Given the description of an element on the screen output the (x, y) to click on. 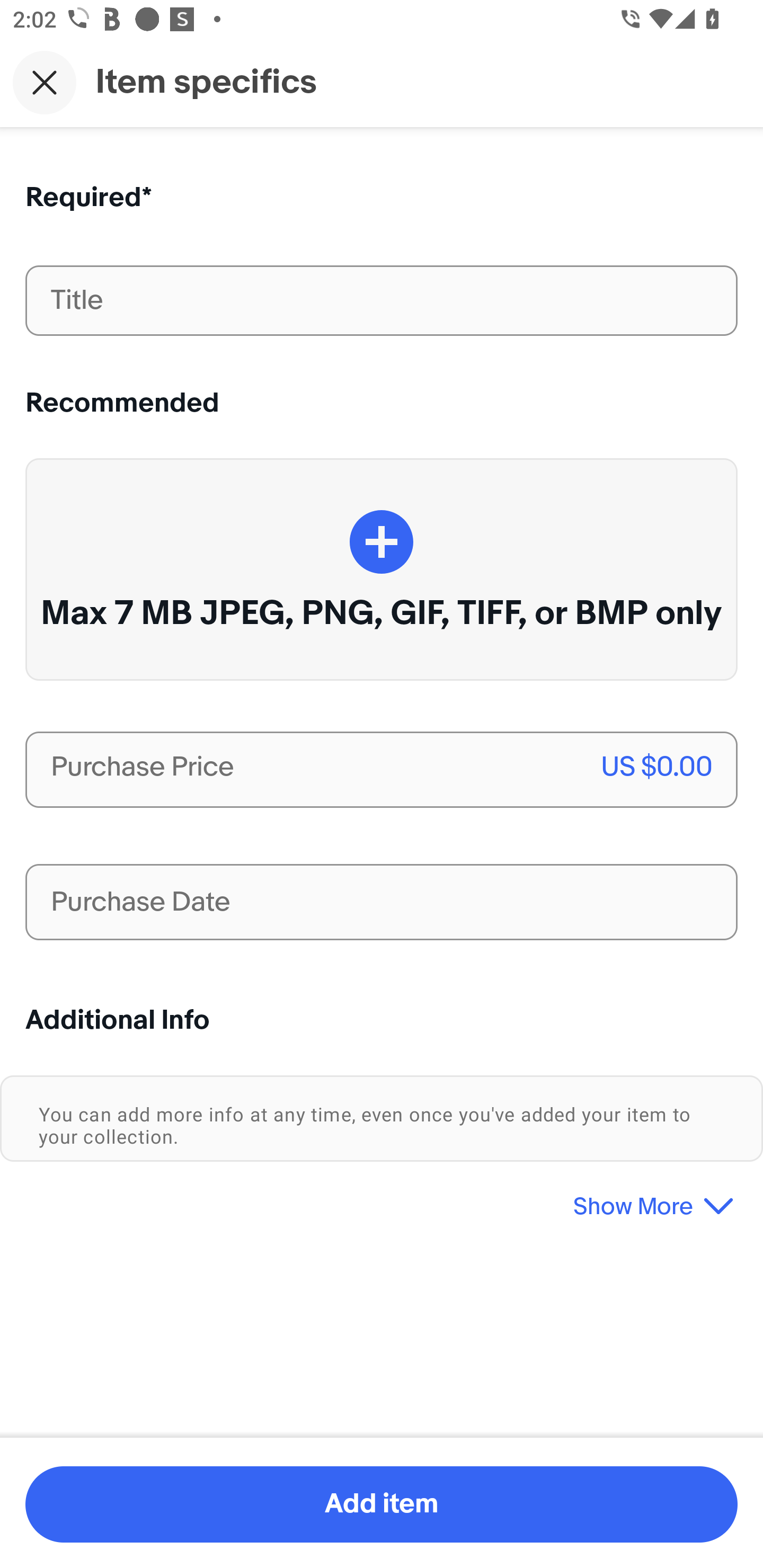
Close (44, 82)
Title (381, 299)
Max 7 MB JPEG, PNG, GIF, TIFF, or BMP only (381, 568)
US $0.00Purchase Price U S $0.0 (381, 769)
Purchase Date (381, 901)
Show More (381, 1199)
Add item (381, 1504)
